Given the description of an element on the screen output the (x, y) to click on. 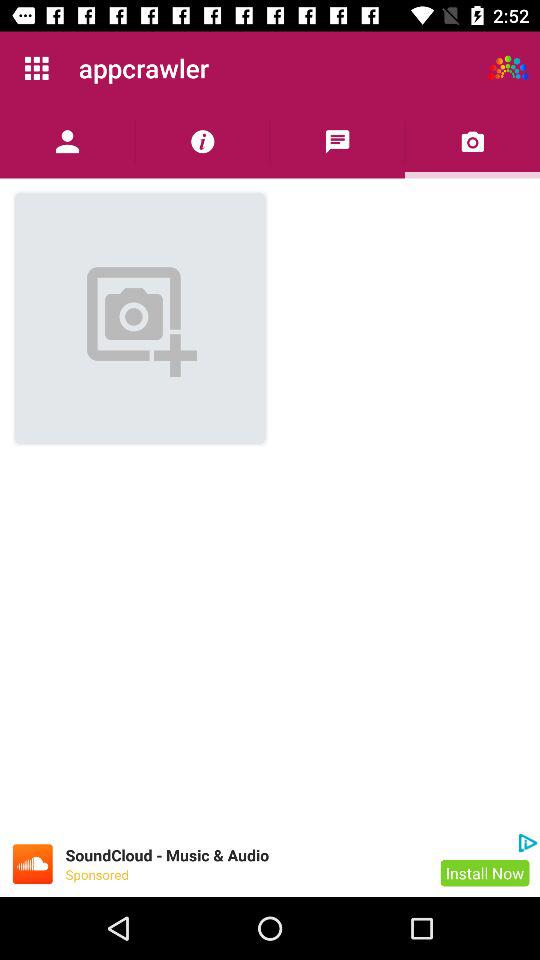
details (202, 141)
